Given the description of an element on the screen output the (x, y) to click on. 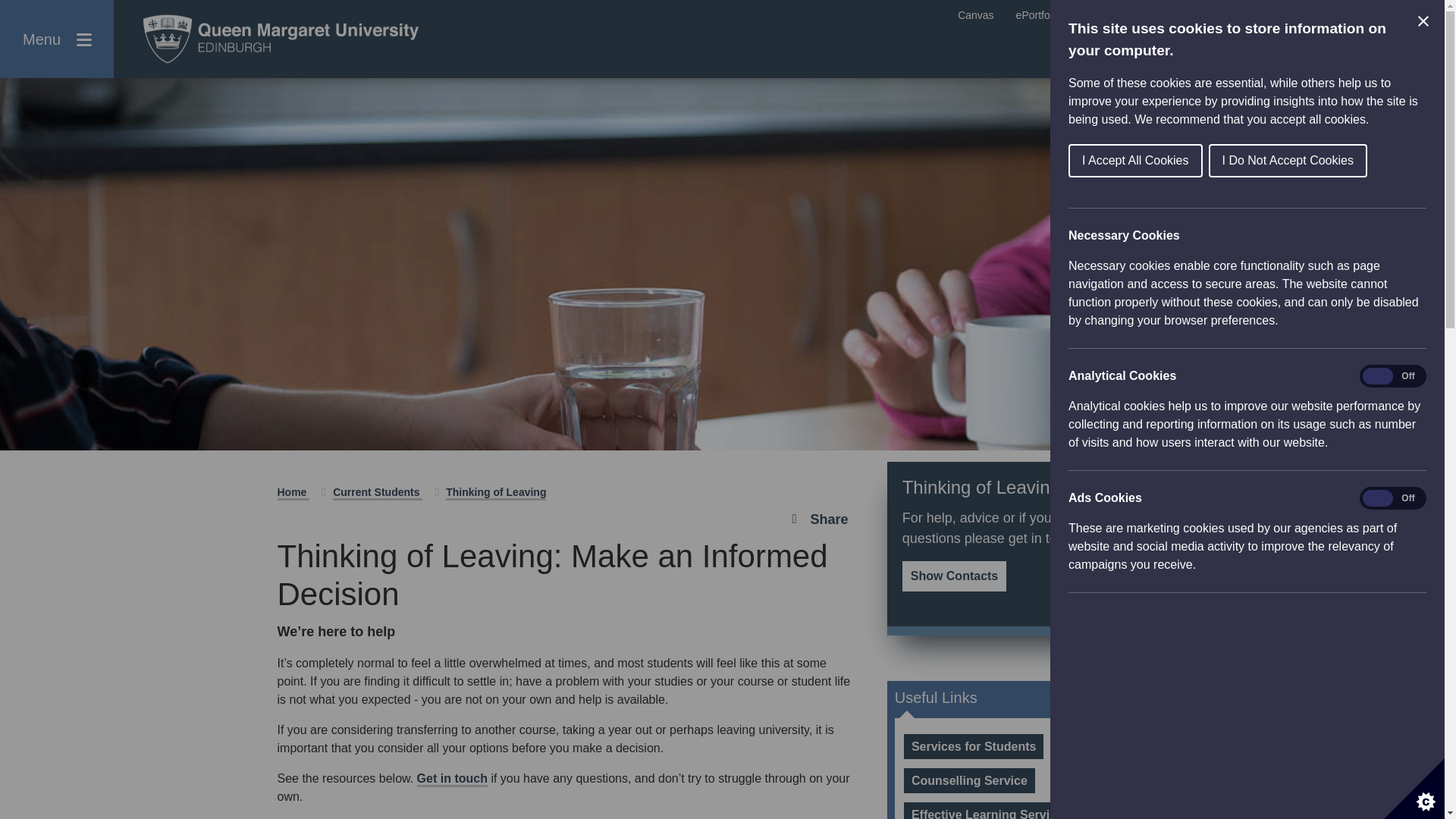
Counselling Service (969, 780)
Library (1335, 15)
IT Services (1399, 15)
Webmail (1276, 15)
Search (1408, 49)
Email for further information (451, 779)
QMU Portal (1110, 15)
ePortfolio (1038, 15)
Remote Access (1196, 15)
Services for Students (973, 746)
I Accept All Cookies (1368, 160)
Canvas (975, 15)
